Given the description of an element on the screen output the (x, y) to click on. 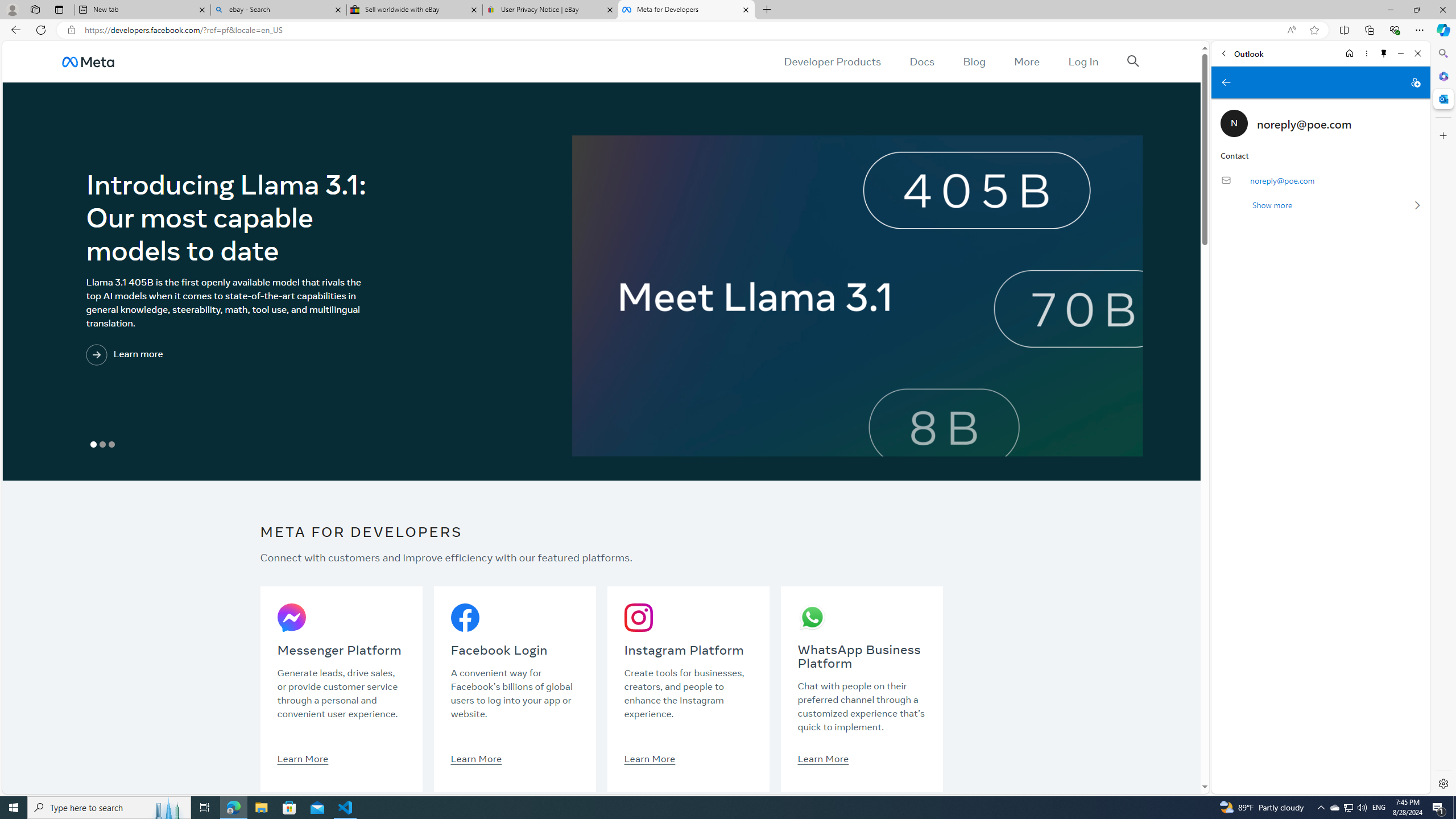
Show Slide 3 (112, 444)
Developer Products (832, 61)
Developer Products (832, 61)
More (1027, 61)
Log In (1083, 61)
